Given the description of an element on the screen output the (x, y) to click on. 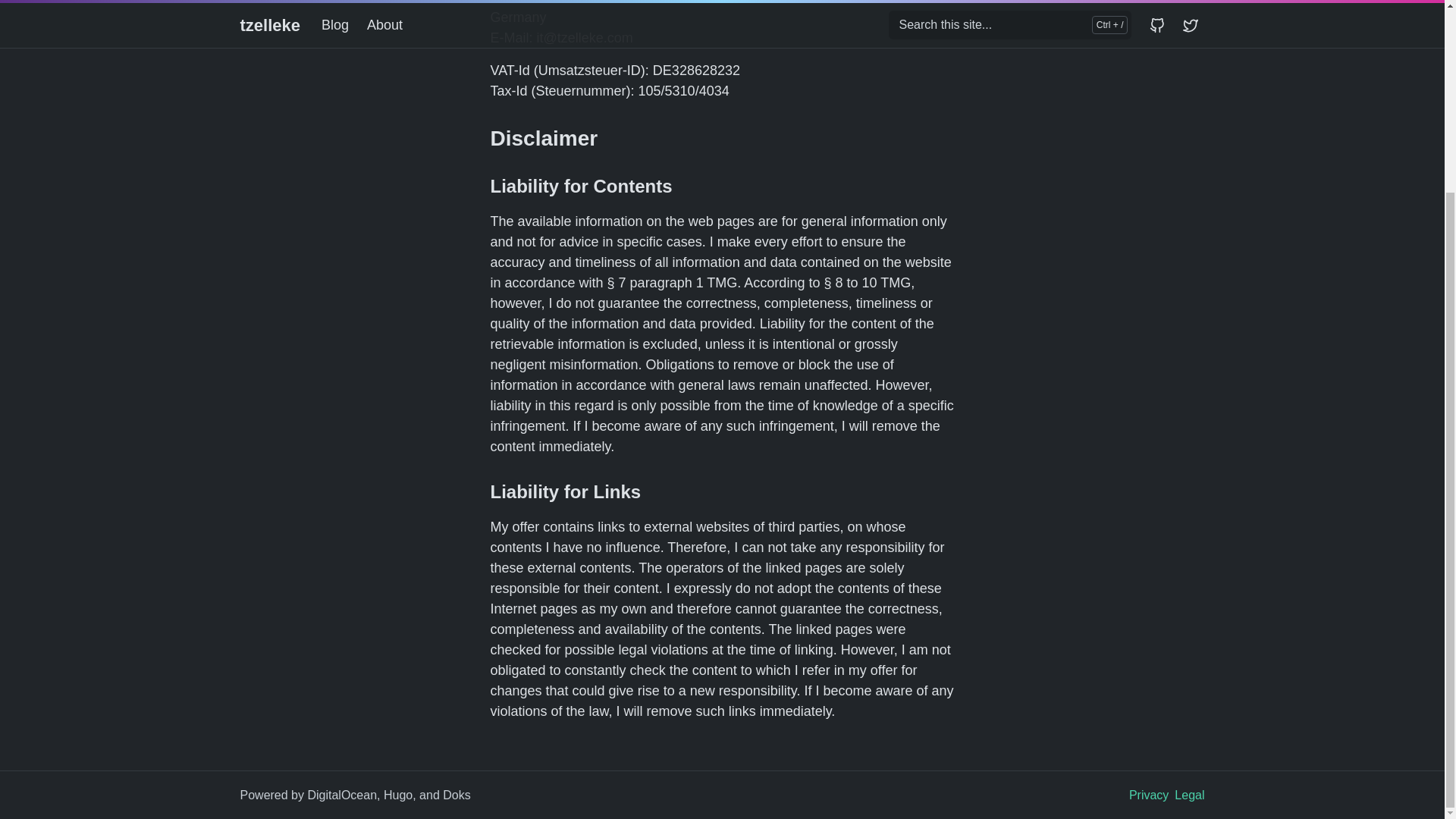
Doks (456, 794)
Legal (1189, 794)
DigitalOcean (342, 794)
Privacy (1149, 794)
Hugo (398, 794)
